Given the description of an element on the screen output the (x, y) to click on. 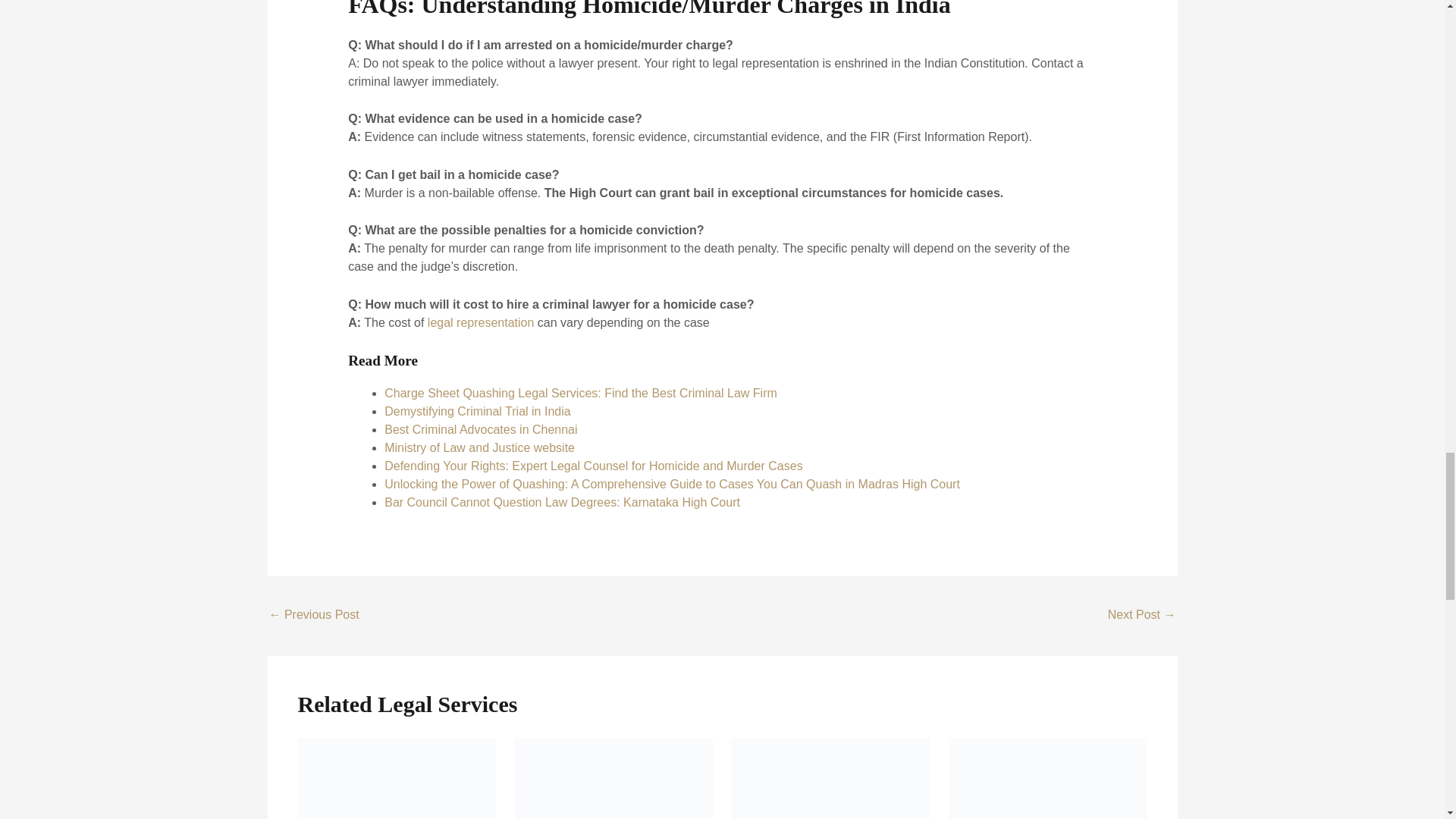
Robbery Case: How to protect your rights? Expert help (1142, 615)
